Given the description of an element on the screen output the (x, y) to click on. 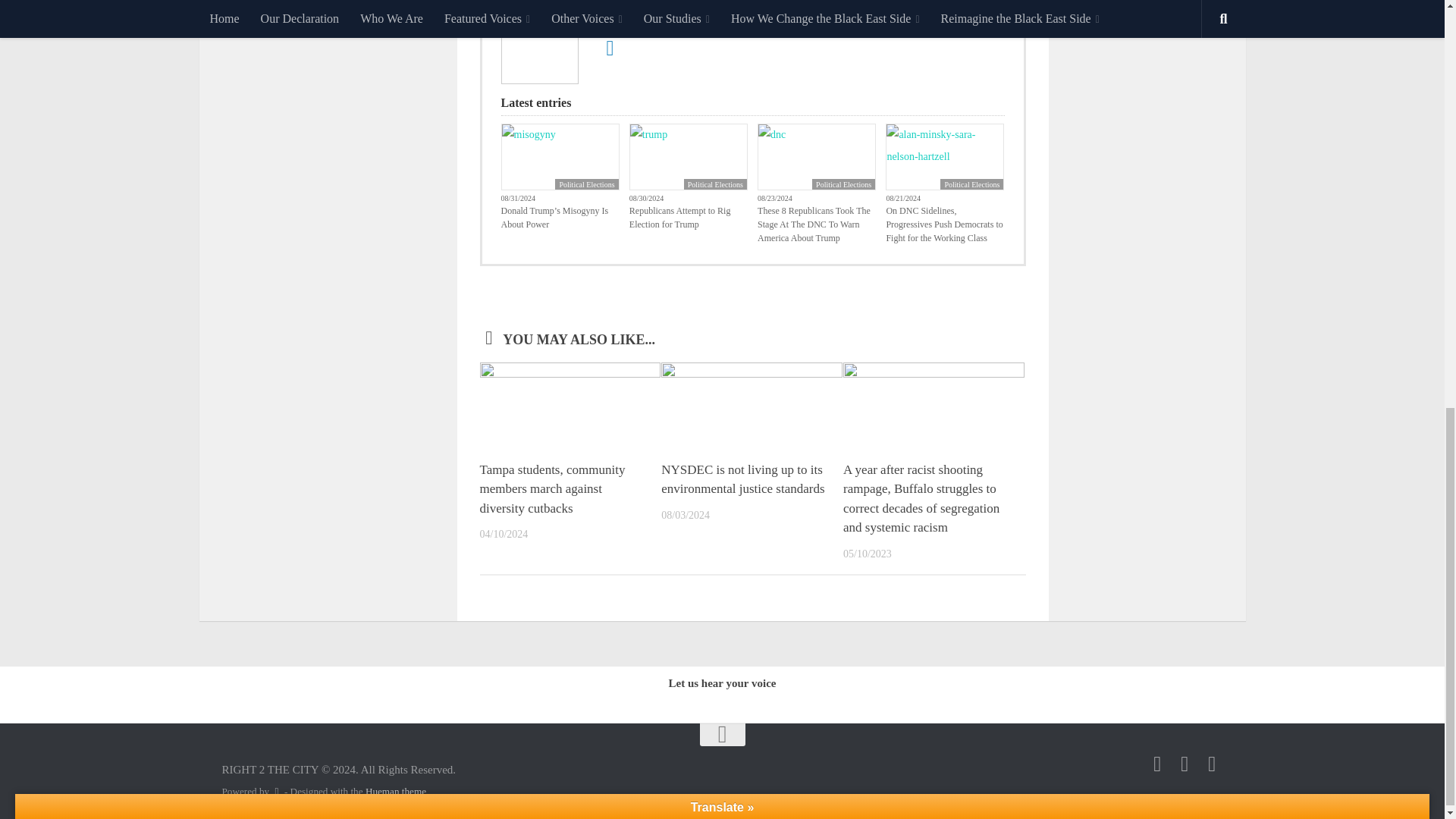
Hueman theme (395, 790)
Powered by WordPress (275, 791)
Follow us on Facebook (1157, 763)
Follow us on Instagram (1184, 763)
Follow us on Twitter (1212, 763)
